Given the description of an element on the screen output the (x, y) to click on. 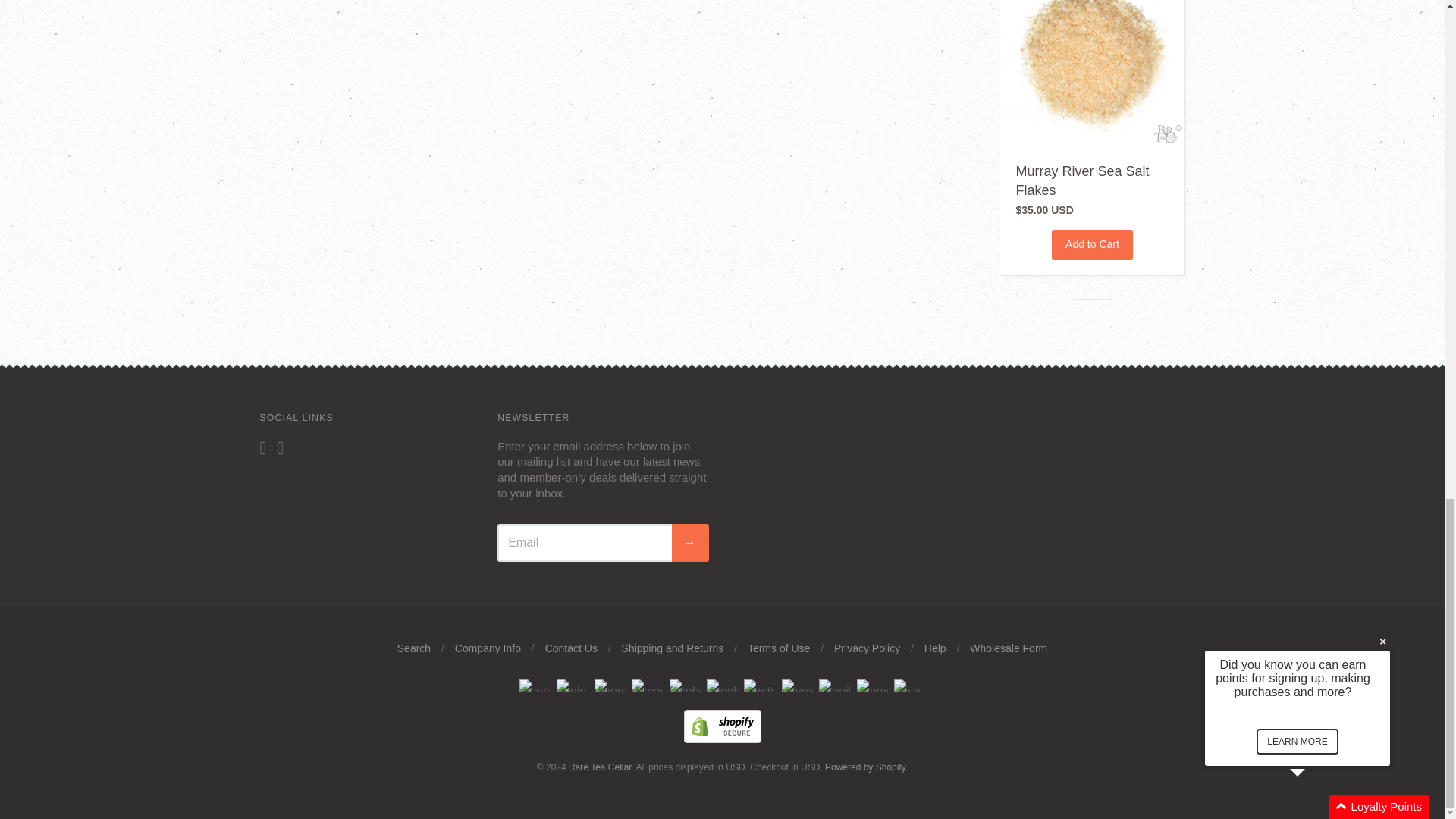
Murray River Sea Salt Flakes (1081, 180)
This online store is secured by Shopify (722, 738)
